Given the description of an element on the screen output the (x, y) to click on. 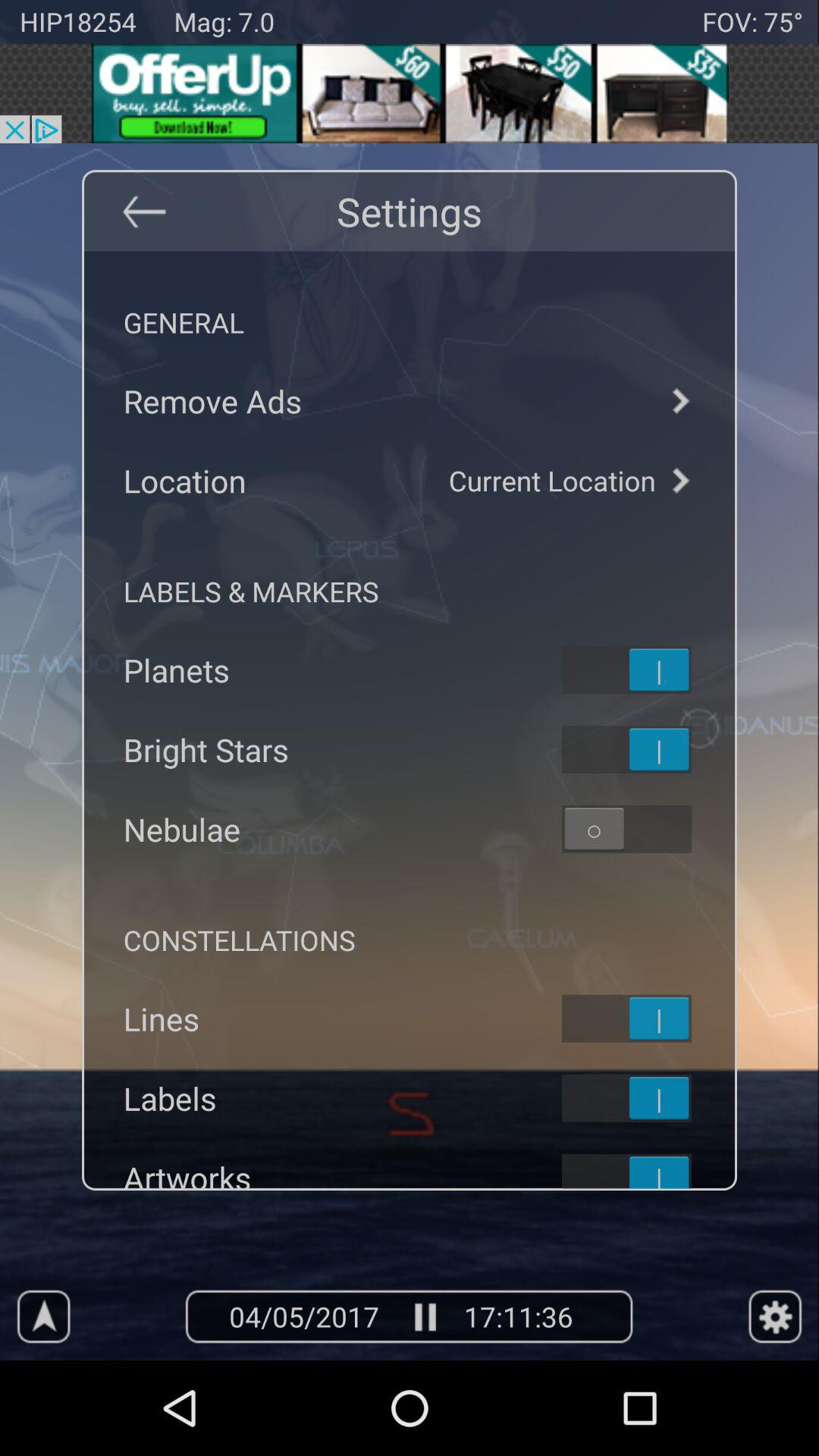
advertisements remove link (409, 400)
